Given the description of an element on the screen output the (x, y) to click on. 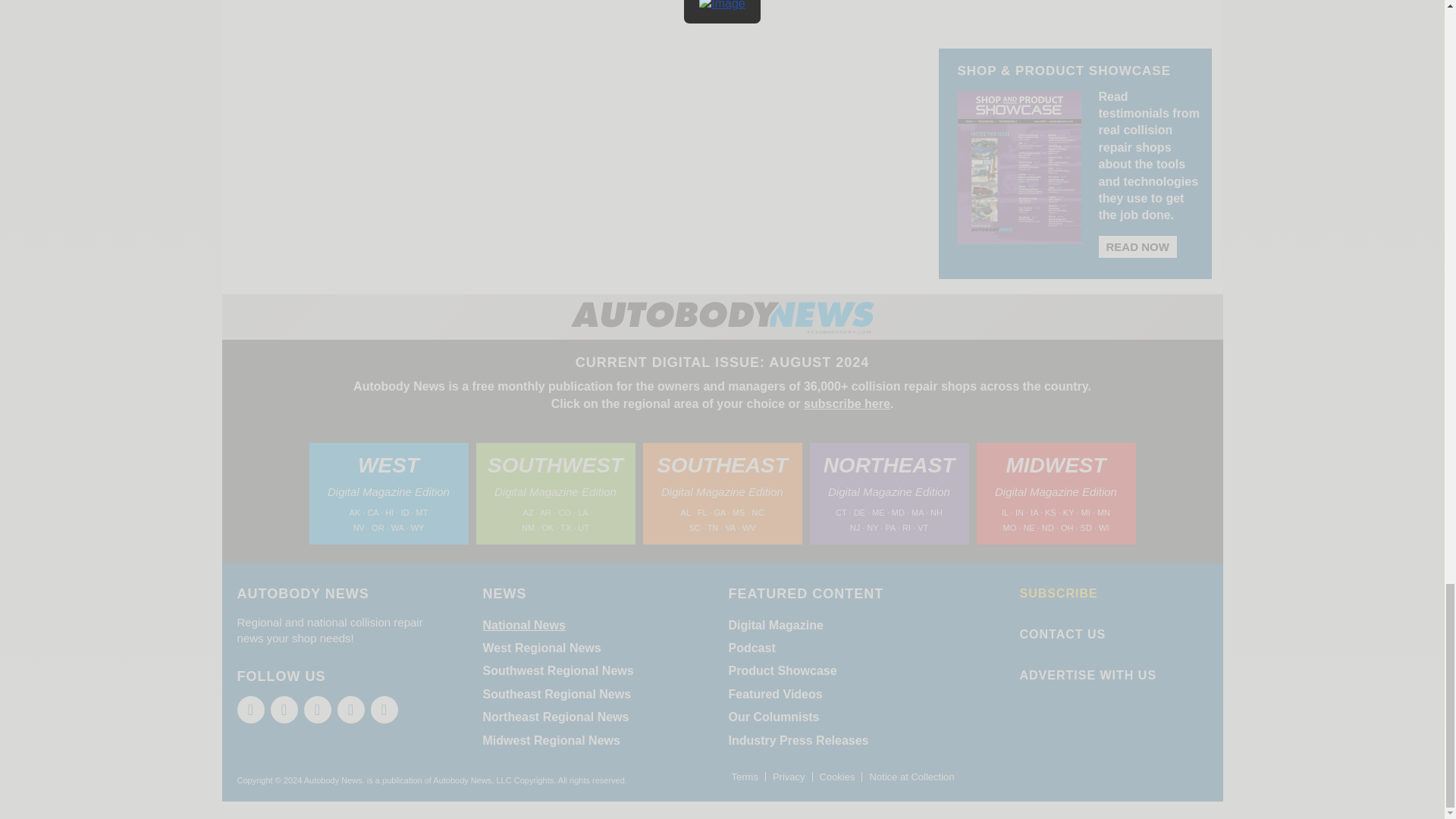
3rd party ad content (1074, 4)
